Given the description of an element on the screen output the (x, y) to click on. 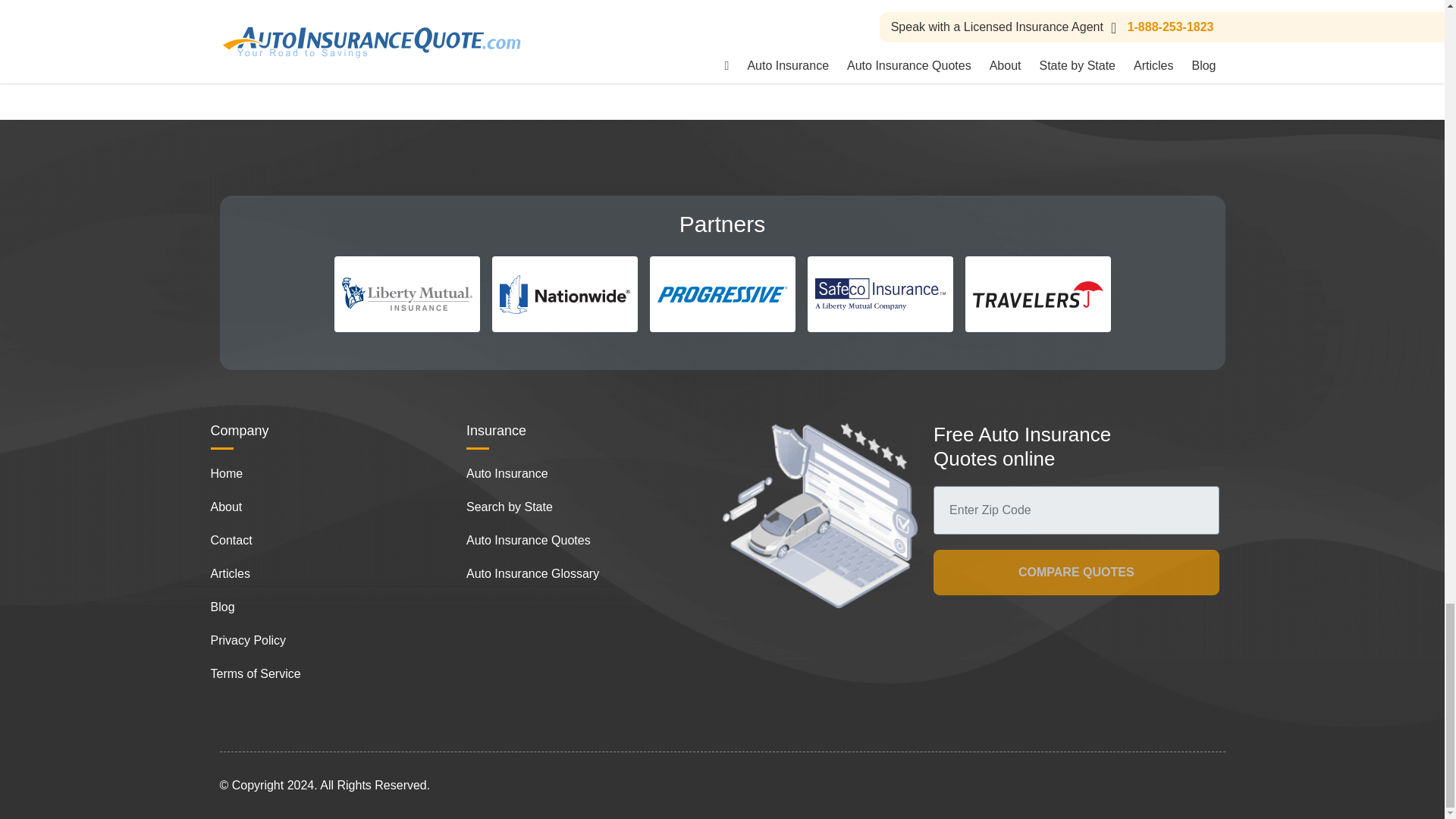
Read More... (615, 12)
Privacy Policy (248, 640)
Read More... (956, 12)
Blog (222, 606)
Articles (230, 573)
Read More... (275, 12)
About (227, 506)
Home (227, 472)
Contact (231, 540)
